Given the description of an element on the screen output the (x, y) to click on. 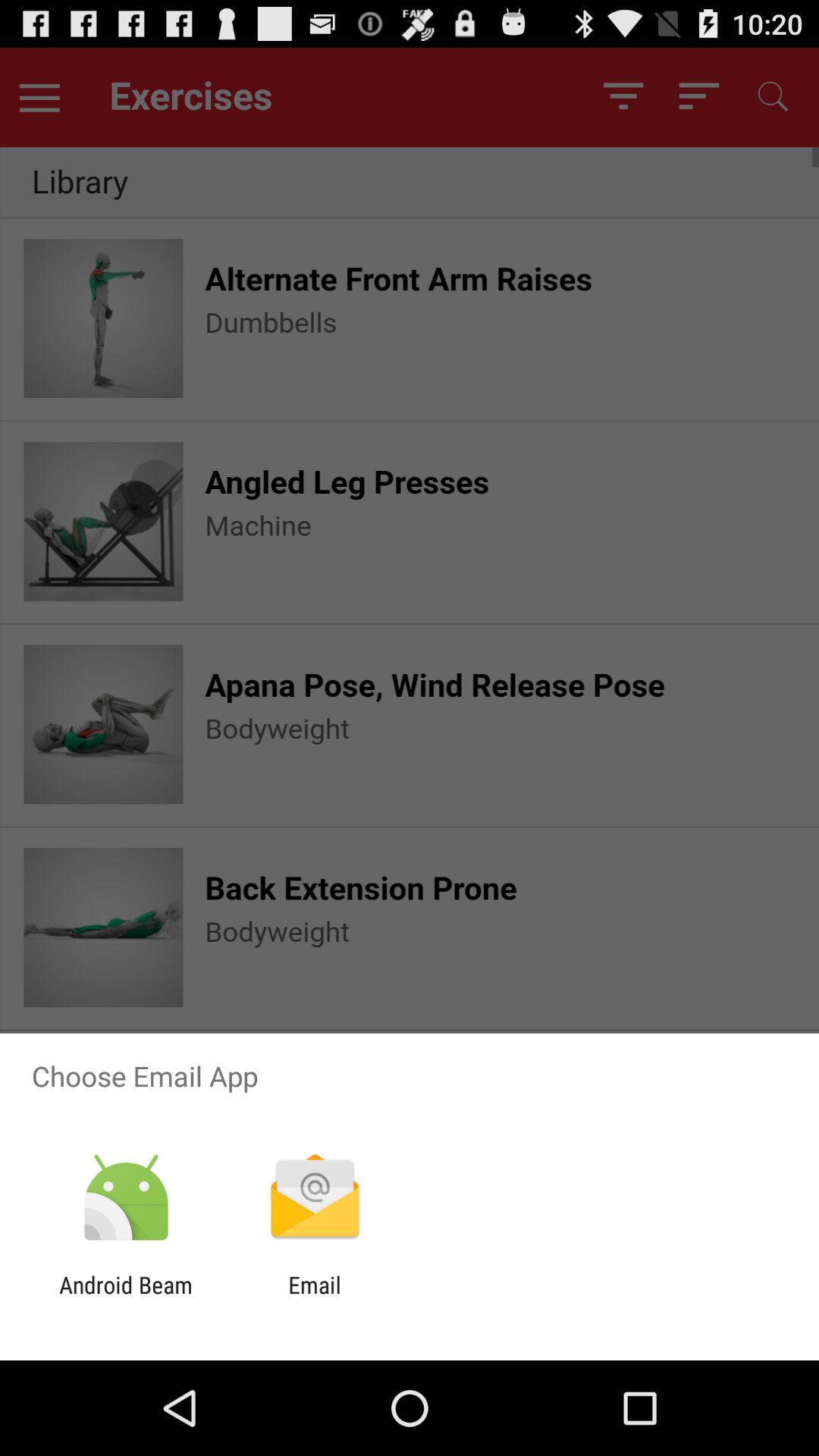
choose the icon next to the email app (125, 1298)
